Given the description of an element on the screen output the (x, y) to click on. 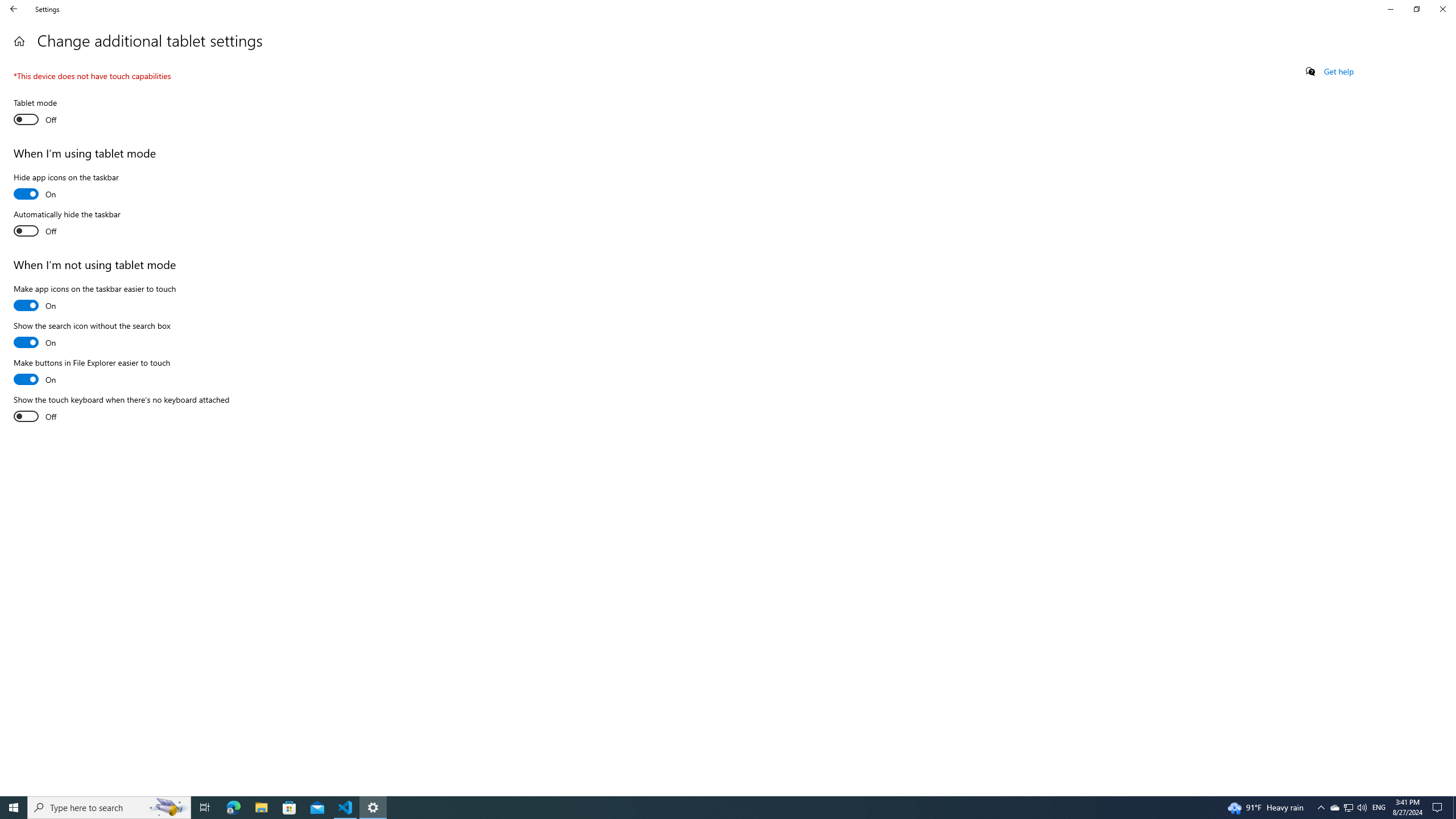
Settings - 1 running window (373, 807)
